Given the description of an element on the screen output the (x, y) to click on. 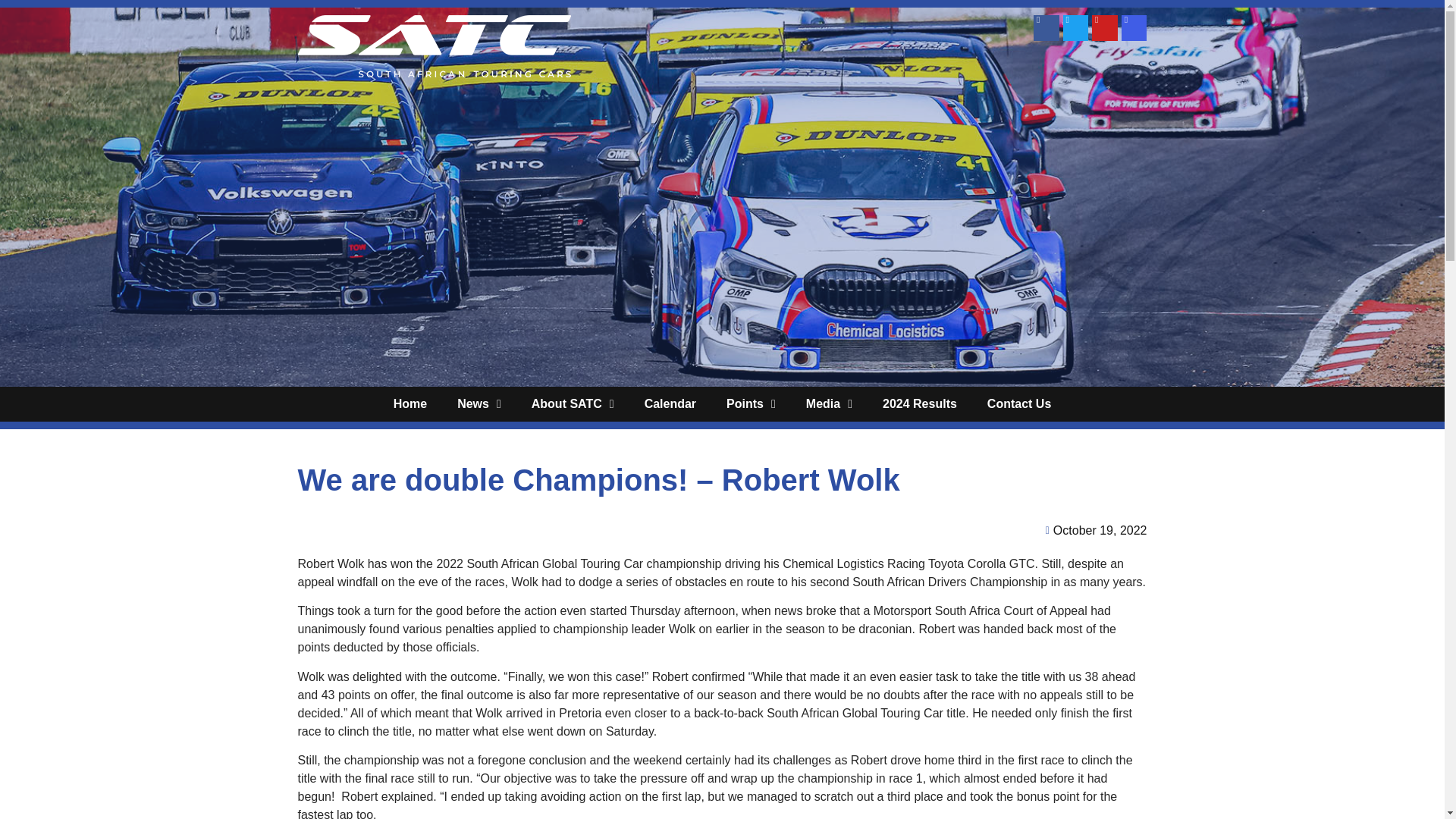
2024 Results (919, 403)
News (479, 403)
Calendar (669, 403)
Points (750, 403)
About SATC (572, 403)
Contact Us (1018, 403)
Media (828, 403)
Home (410, 403)
